Given the description of an element on the screen output the (x, y) to click on. 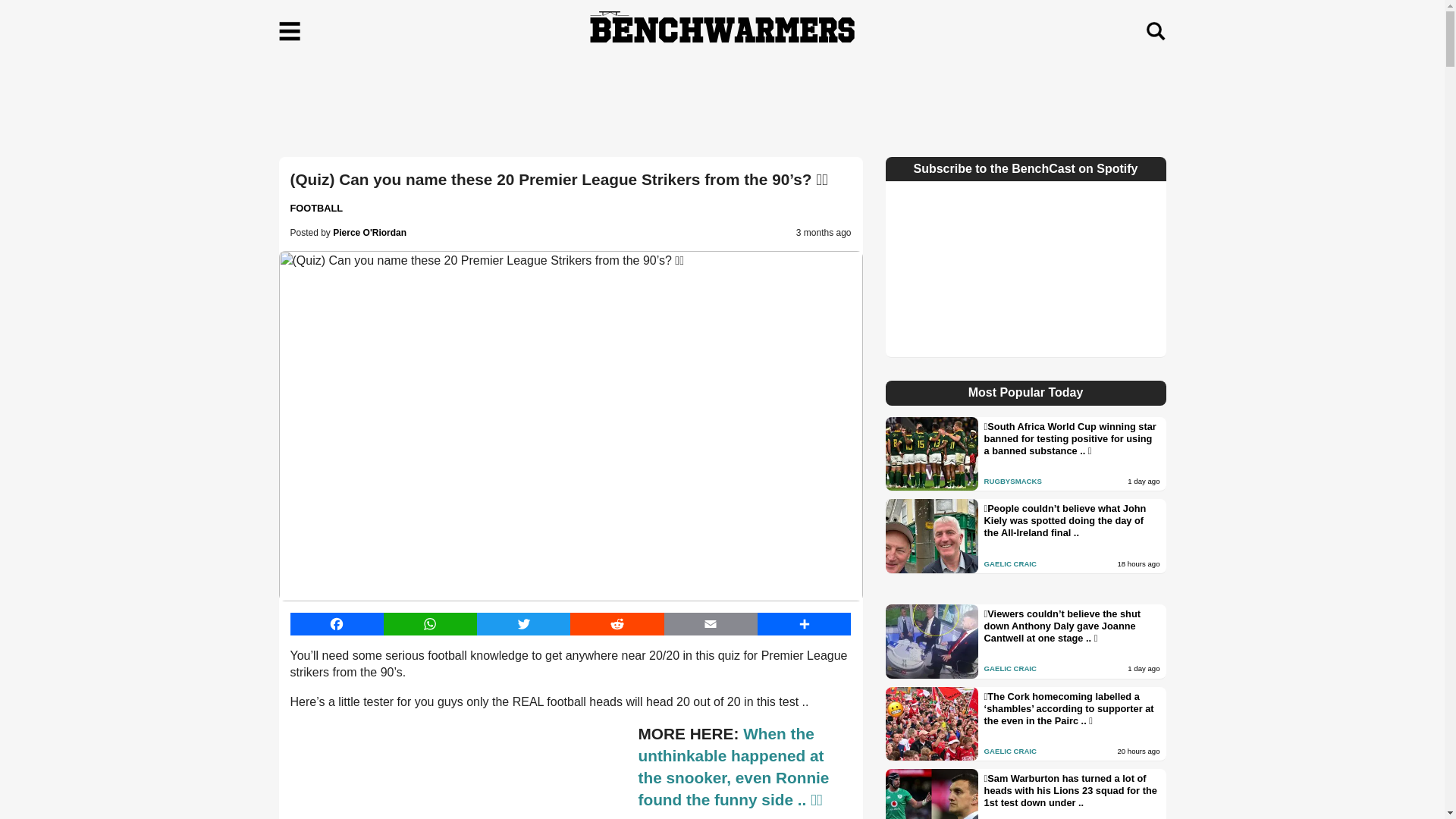
Facebook (335, 623)
GAELIC CRAIC (1010, 668)
RUGBYSMACKS (1013, 480)
Twitter (523, 623)
WhatsApp (430, 623)
Facebook (335, 623)
GAELIC CRAIC (1010, 563)
Menu (289, 30)
Share (803, 623)
Reddit (616, 623)
View more articles by Pierce O'Riordan (369, 232)
Latest Football News (315, 207)
FOOTBALL (315, 207)
Email (710, 623)
Search (1155, 30)
